Given the description of an element on the screen output the (x, y) to click on. 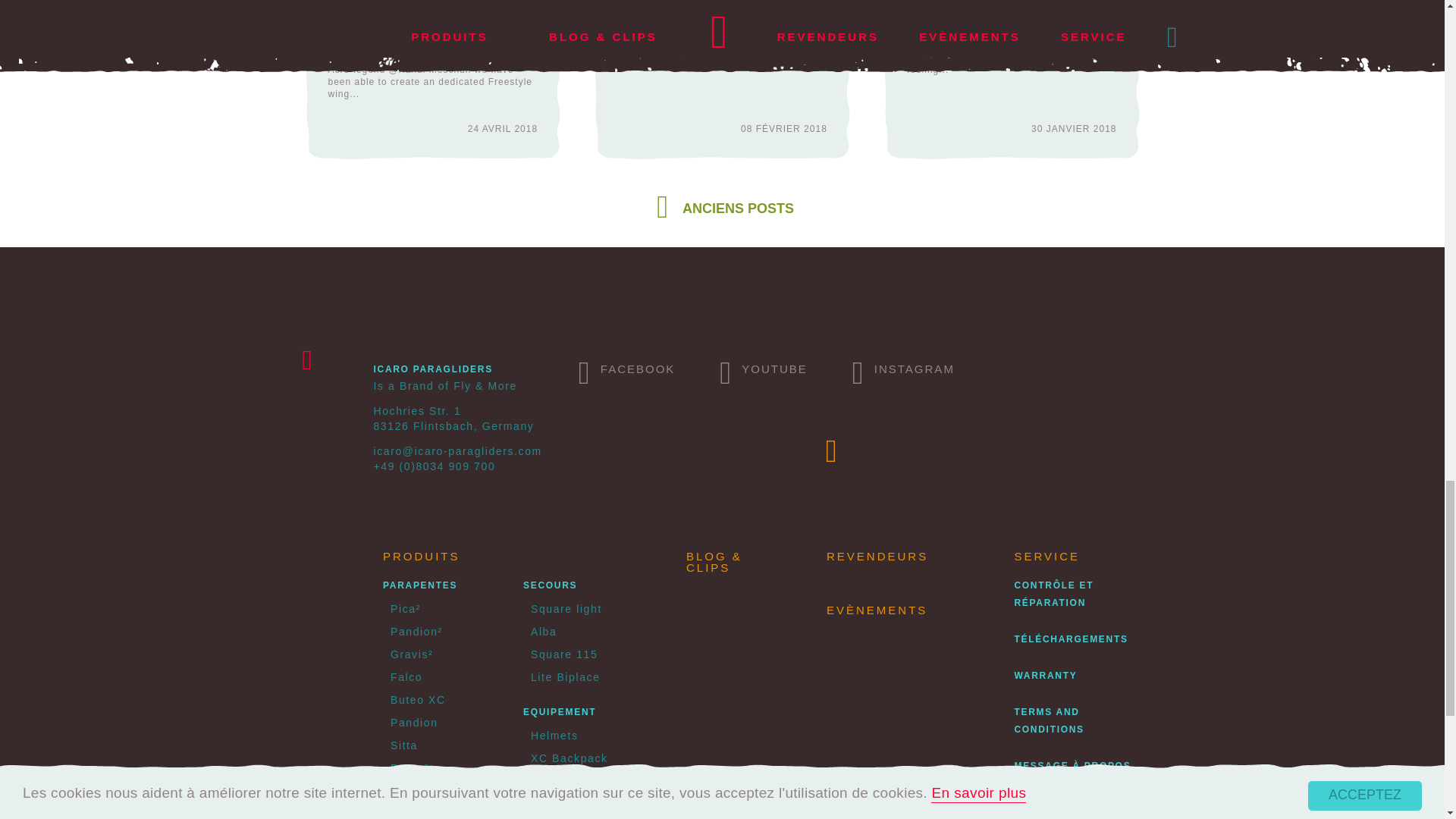
Warranty (1045, 675)
Terms and Conditions (1048, 720)
